Given the description of an element on the screen output the (x, y) to click on. 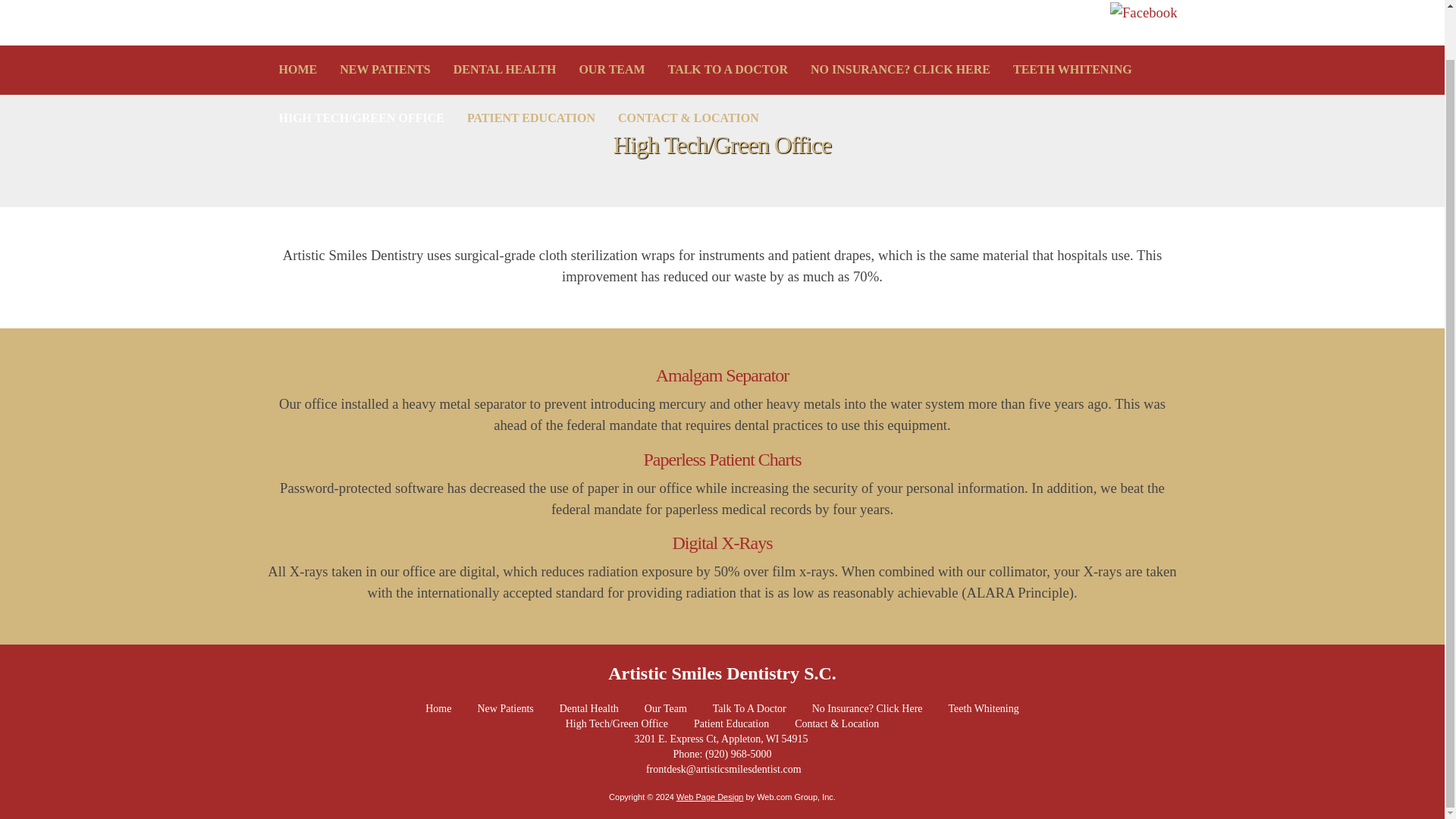
Web Page Design (709, 796)
Facebook (1143, 12)
Patient Education (731, 724)
PATIENT EDUCATION (531, 118)
Dental Health (588, 708)
Home (438, 708)
NEW PATIENTS (384, 69)
New Patients (504, 708)
Artistic Smiles Dentistry S.C. (721, 673)
NO INSURANCE? CLICK HERE (900, 69)
Talk To A Doctor (749, 708)
Teeth Whitening (984, 708)
Artistic Smiles Dentistry (494, 12)
HOME (297, 69)
No Insurance? Click Here (867, 708)
